Given the description of an element on the screen output the (x, y) to click on. 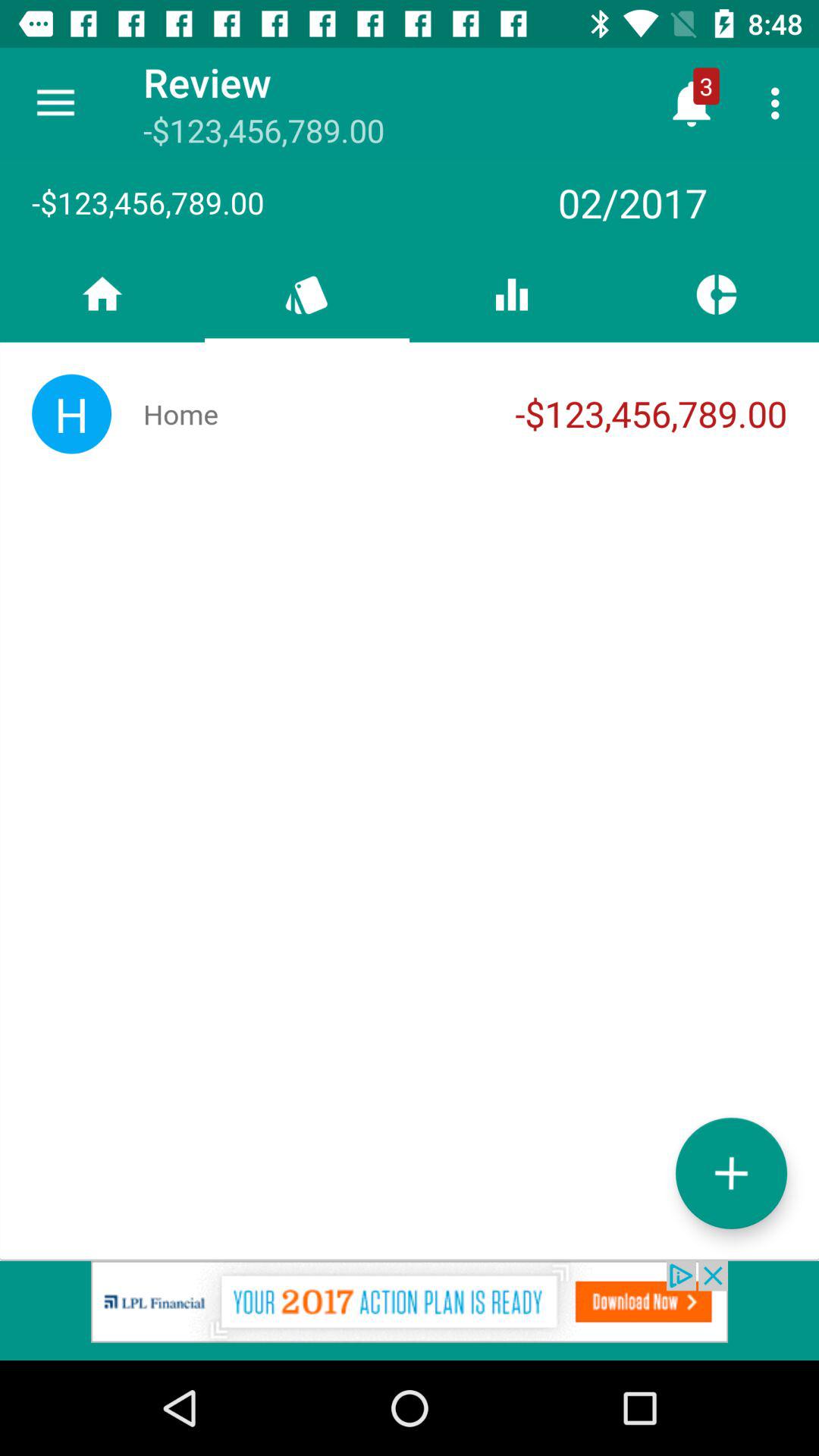
go to increash (731, 1173)
